Given the description of an element on the screen output the (x, y) to click on. 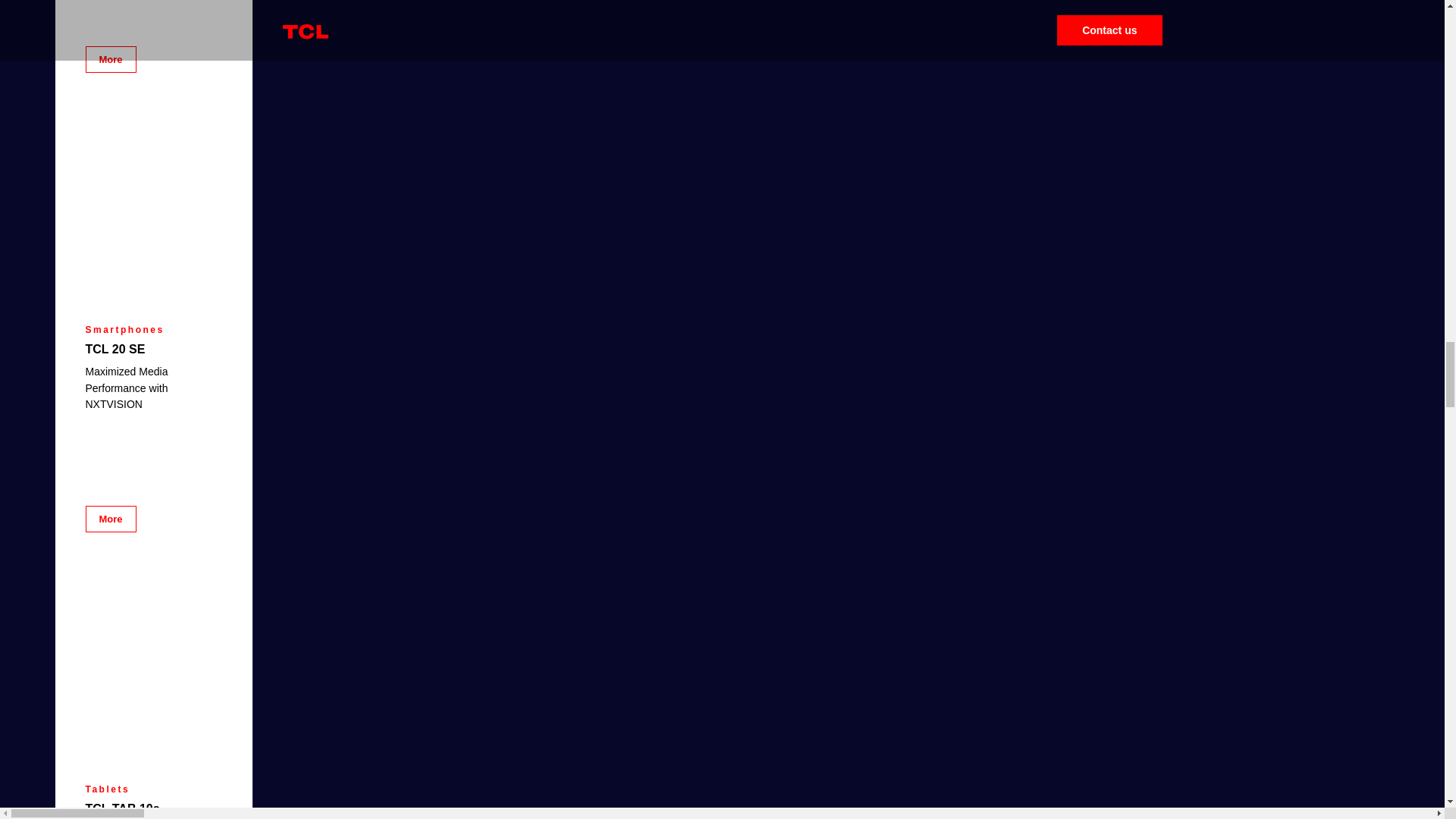
More (109, 519)
More (109, 58)
